Given the description of an element on the screen output the (x, y) to click on. 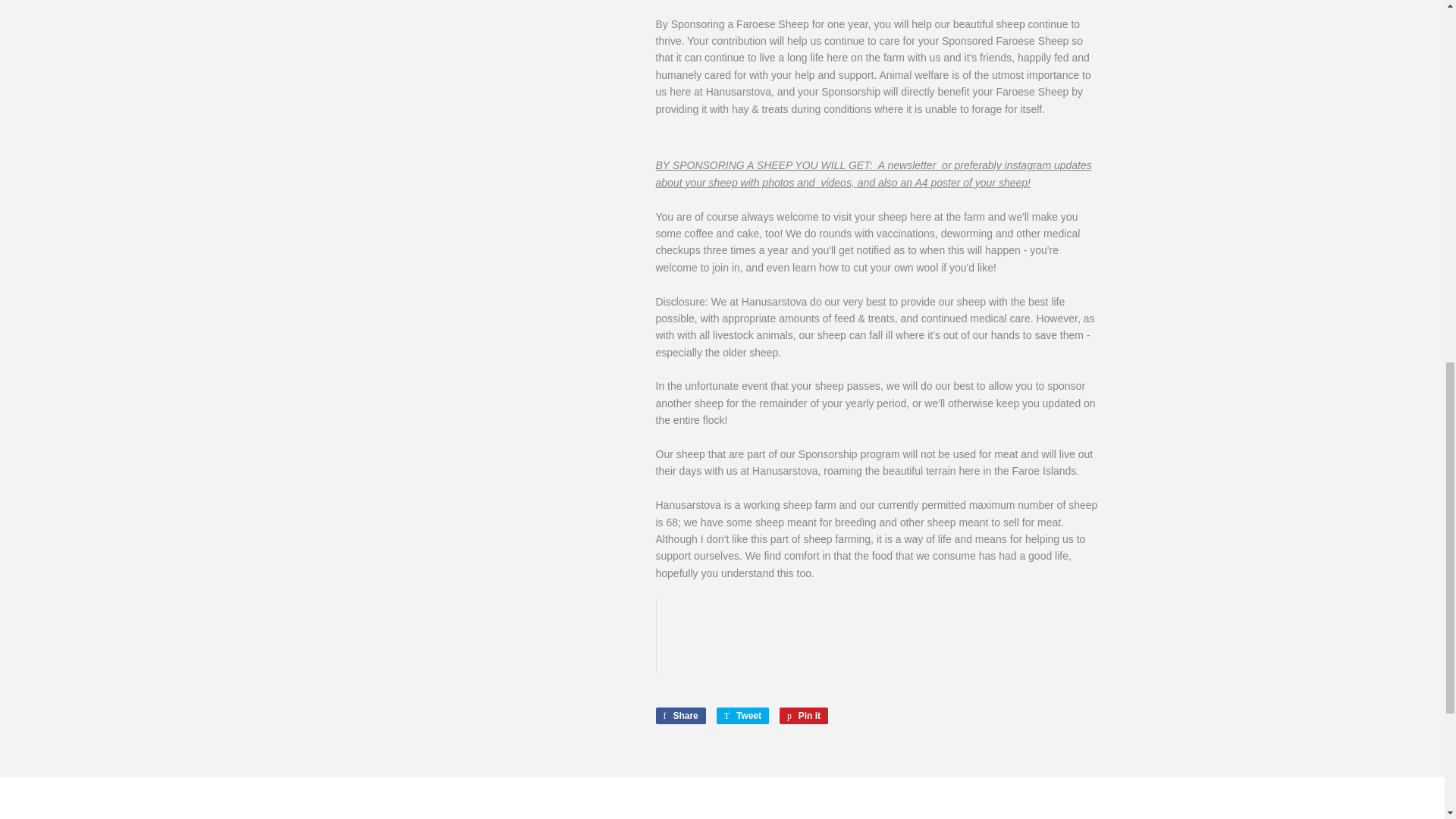
Share on Facebook (679, 715)
Tweet on Twitter (679, 715)
Pin on Pinterest (742, 715)
